Given the description of an element on the screen output the (x, y) to click on. 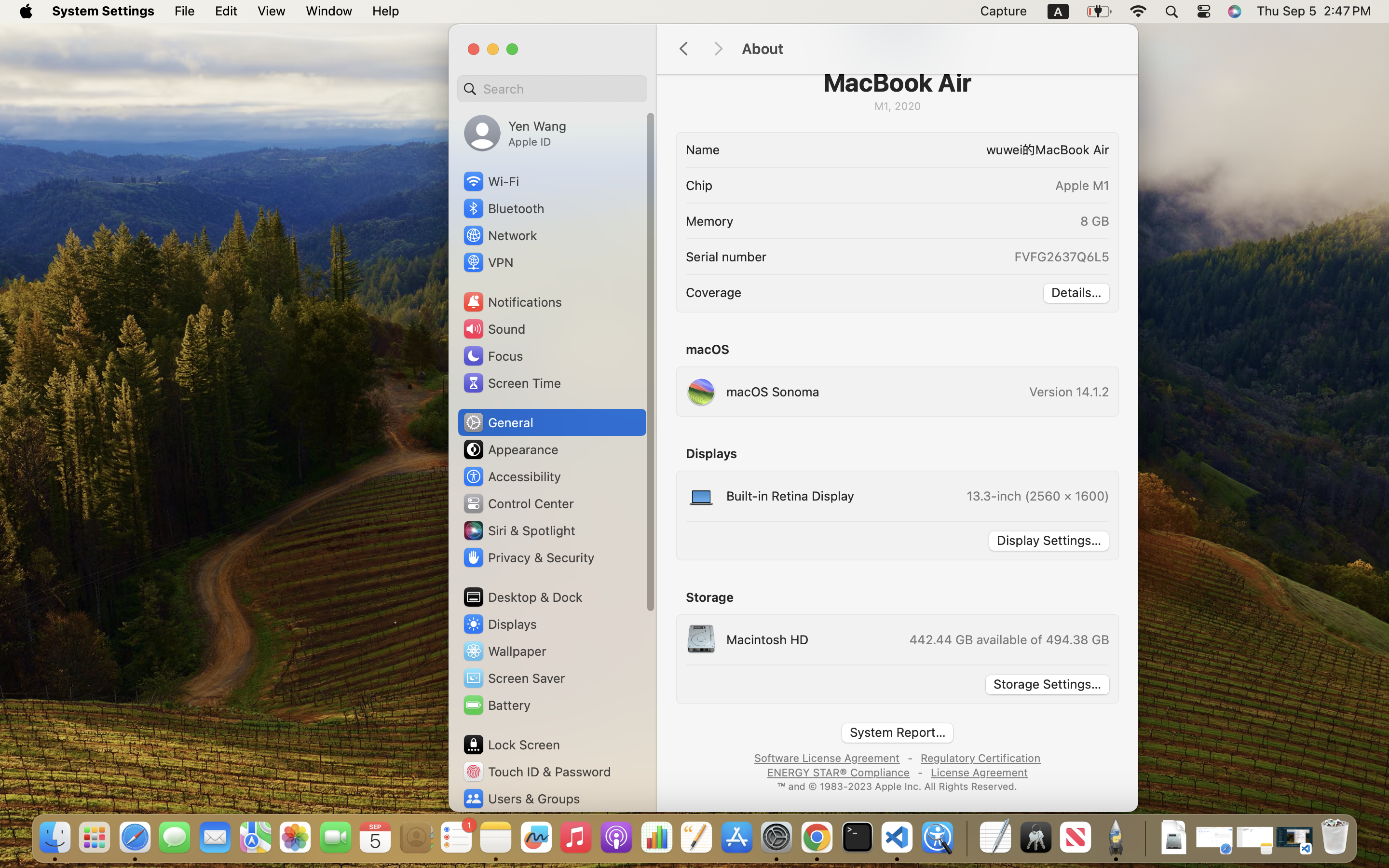
13.3-inch (2560 × 1600) Element type: AXStaticText (1037, 495)
Control Center Element type: AXStaticText (517, 503)
License Agreement Element type: AXStaticText (978, 771)
Software License Agreement Element type: AXStaticText (826, 756)
Users & Groups Element type: AXStaticText (520, 798)
